Given the description of an element on the screen output the (x, y) to click on. 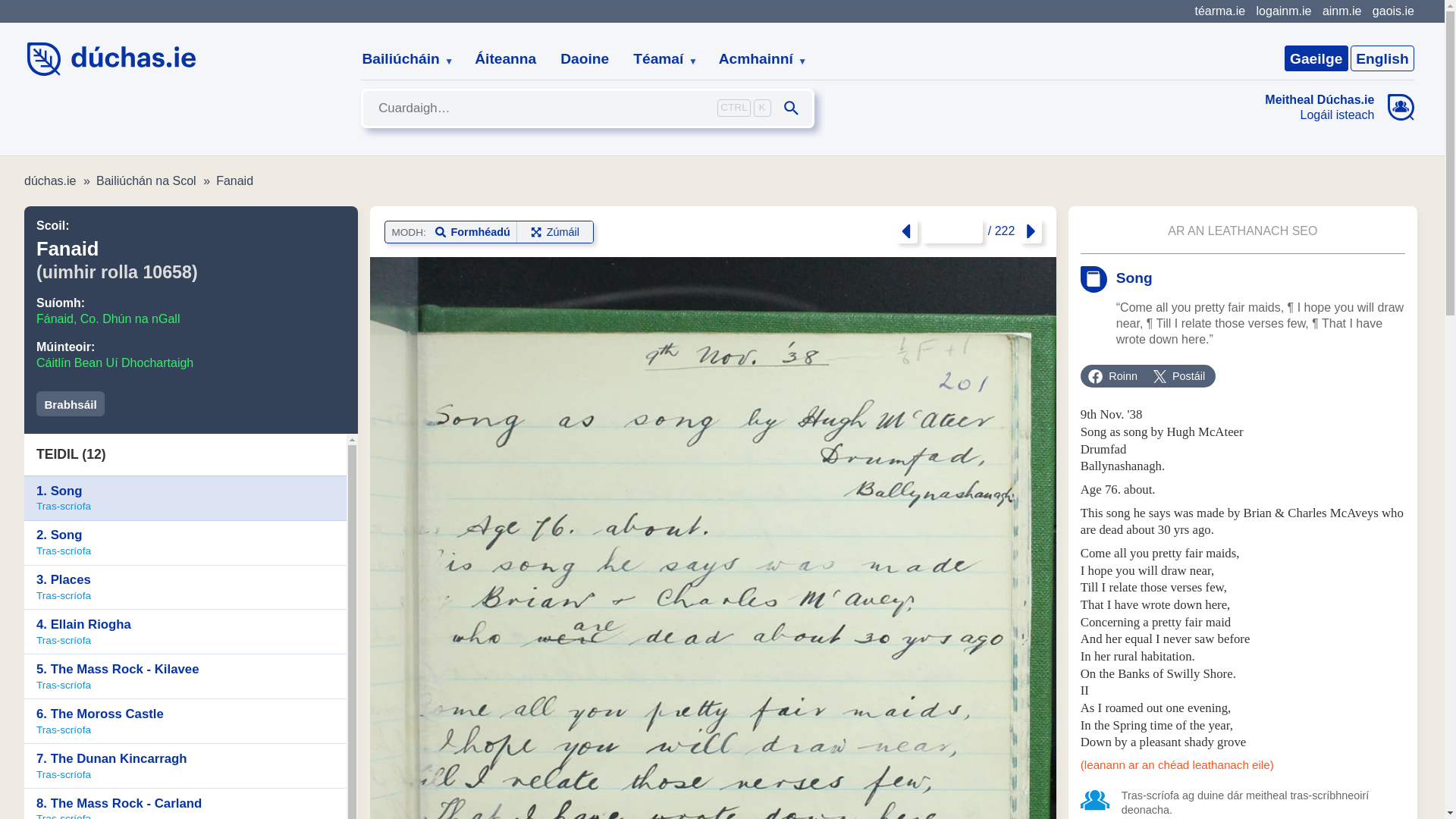
Fanaid (234, 180)
English (1382, 58)
Gaeilge (1316, 58)
ainm.ie (1341, 11)
gaois.ie (1393, 11)
logainm.ie (1283, 11)
Daoine (584, 58)
